Given the description of an element on the screen output the (x, y) to click on. 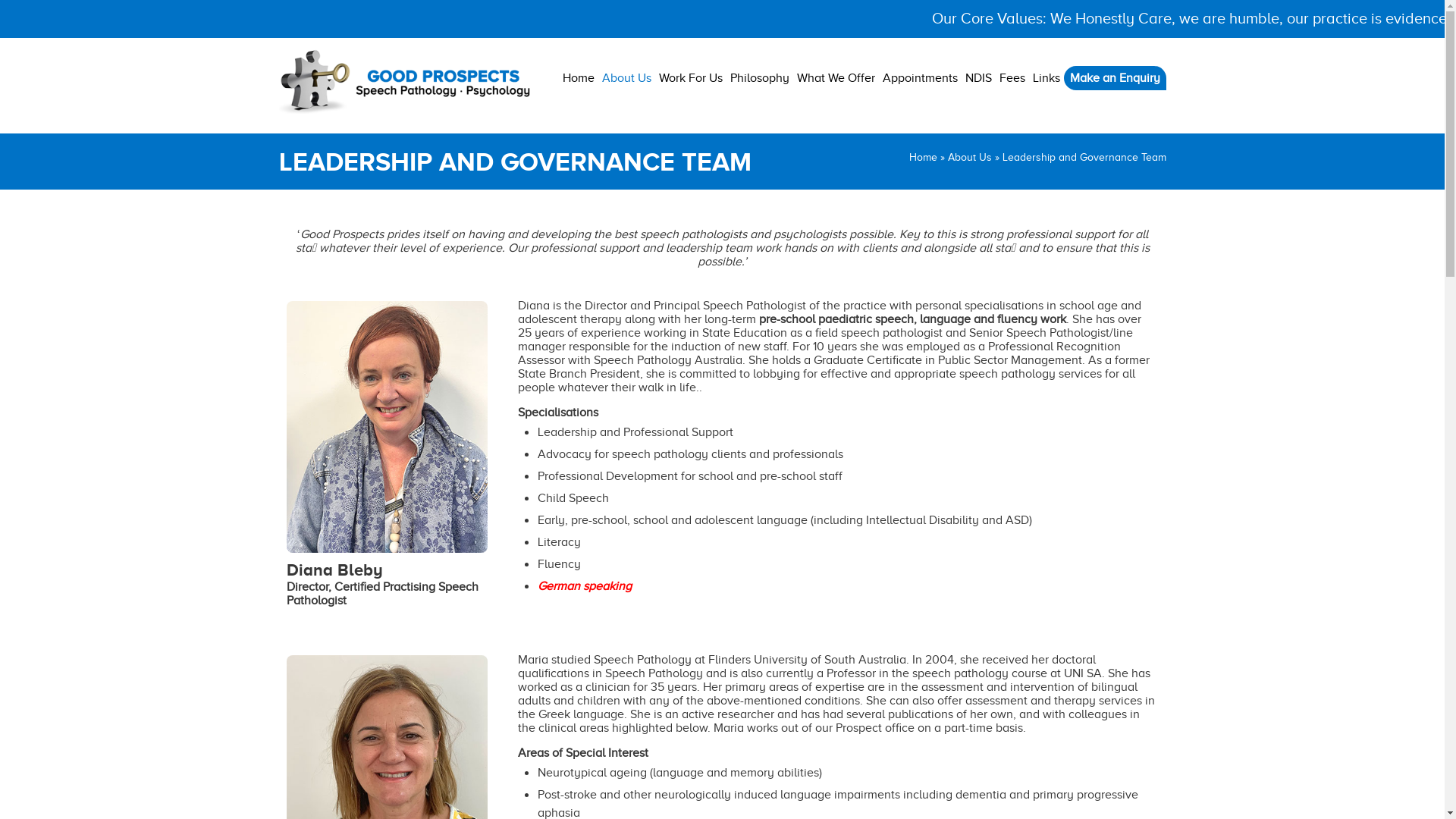
Work For Us Element type: text (690, 68)
Links Element type: text (1045, 77)
About Us Element type: text (625, 68)
Home Element type: text (577, 77)
Home Element type: text (922, 157)
Make an Enquiry Element type: text (1114, 77)
NDIS Element type: text (978, 77)
What We Offer Element type: text (835, 77)
Philosophy Element type: text (759, 77)
About Us Element type: text (969, 157)
Appointments Element type: text (919, 77)
Fees Element type: text (1011, 77)
